Given the description of an element on the screen output the (x, y) to click on. 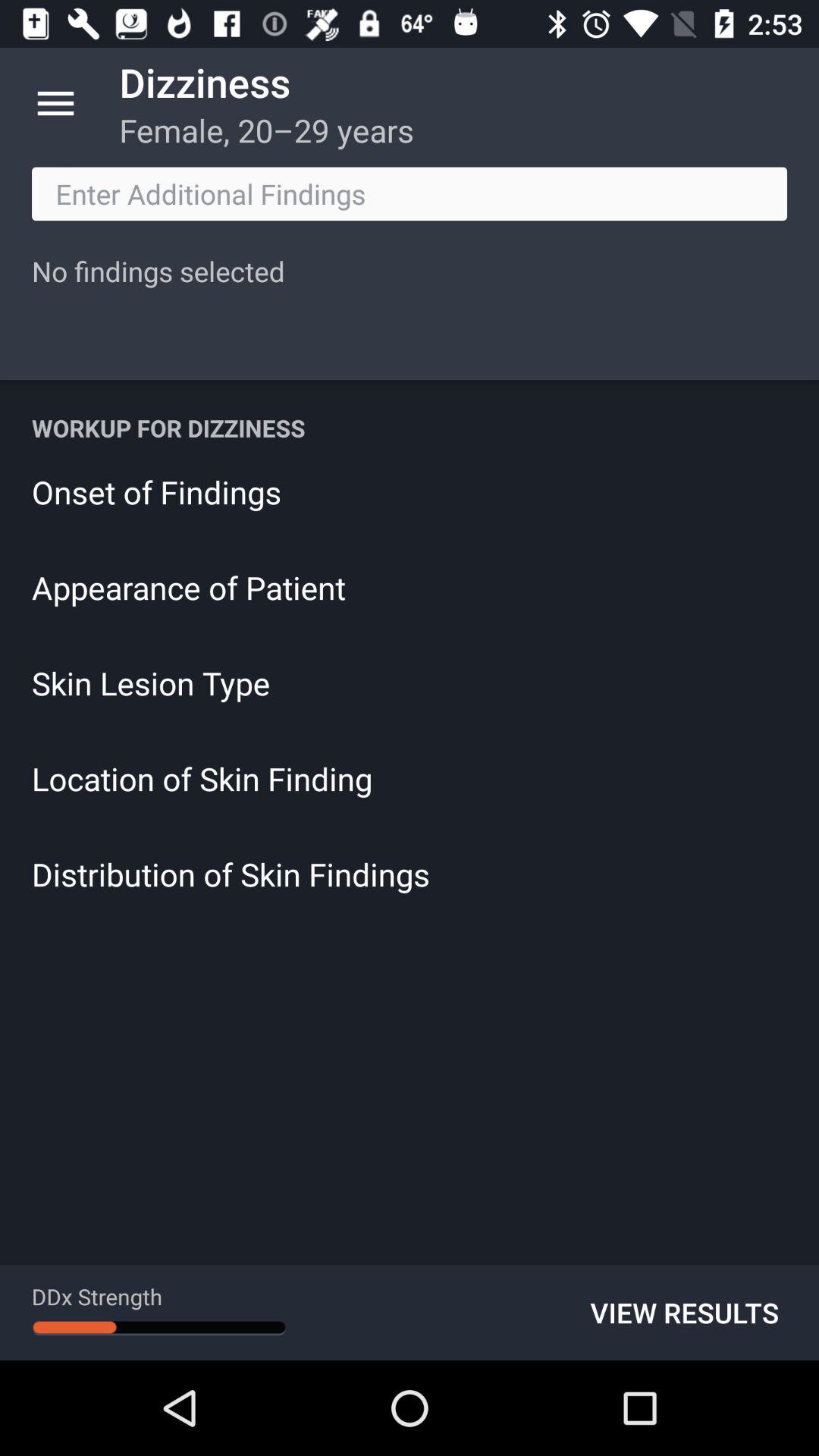
swipe to appearance of patient icon (409, 587)
